Given the description of an element on the screen output the (x, y) to click on. 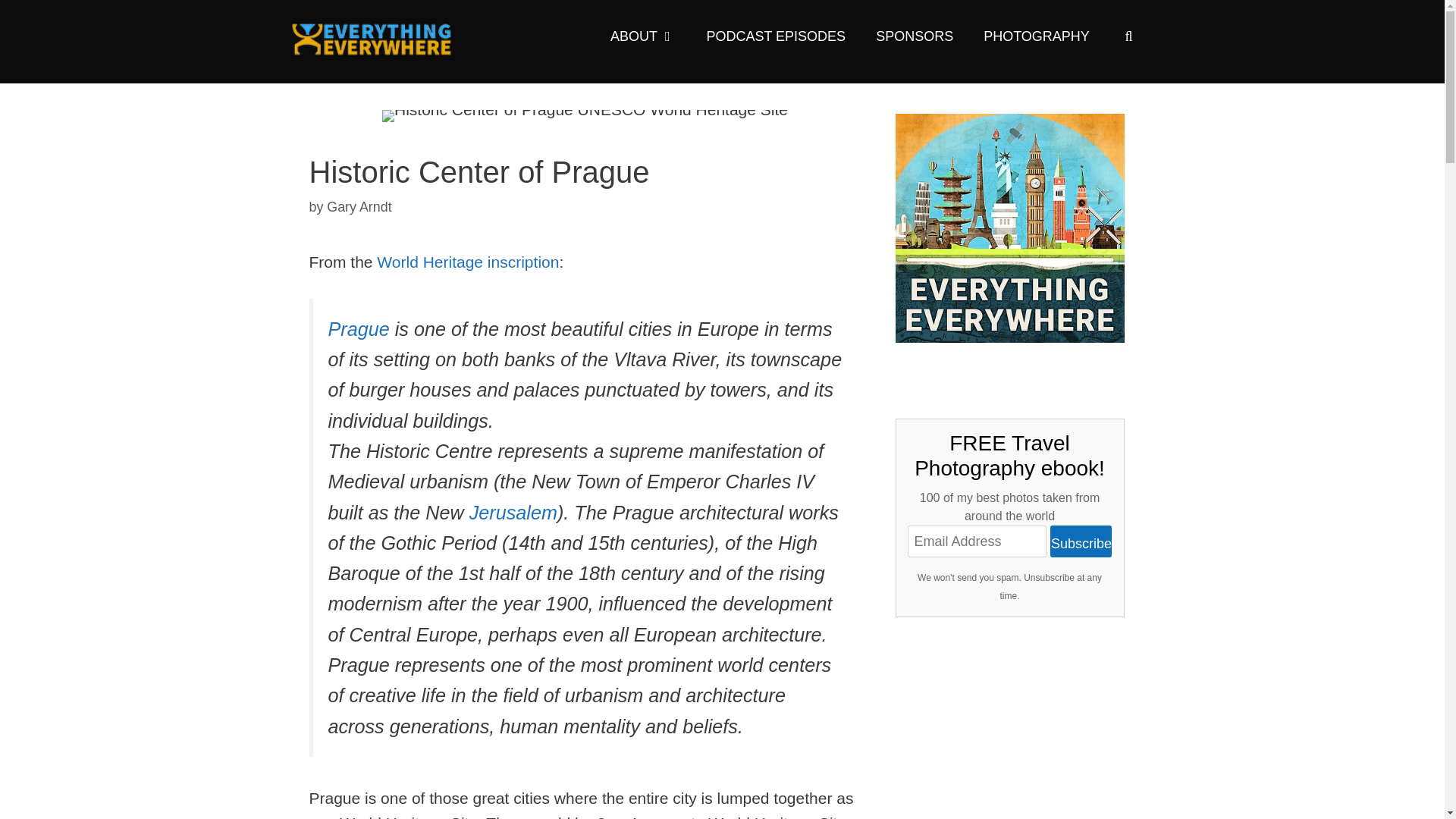
PODCAST EPISODES (775, 36)
PHOTOGRAPHY (1036, 36)
Prague (357, 328)
SPONSORS (914, 36)
World Heritage inscription (468, 262)
ABOUT (642, 36)
Subscribe (1080, 541)
Jerusalem (512, 512)
Historic Center of Prague UNESCO World Heritage Site (584, 115)
Gary Arndt (358, 206)
